Given the description of an element on the screen output the (x, y) to click on. 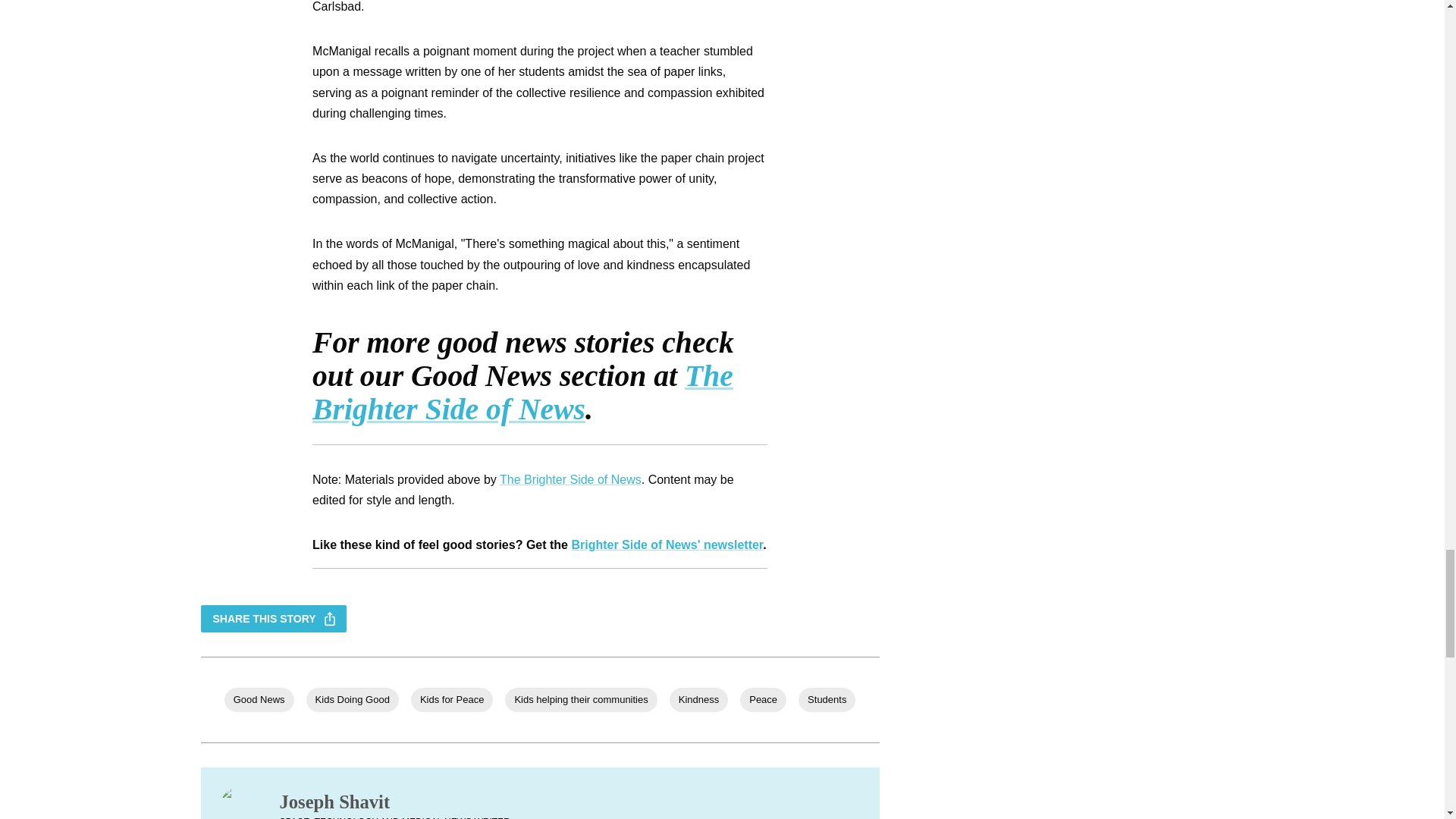
Brighter Side of News' newsletter (666, 544)
Kids for Peace (451, 699)
Joseph Shavit (394, 802)
Kindness (698, 699)
Good News (259, 699)
SHARE THIS STORY (273, 619)
Kids Doing Good (351, 699)
The Brighter Side of News (523, 392)
Students (826, 699)
Kids helping their communities (580, 699)
